Given the description of an element on the screen output the (x, y) to click on. 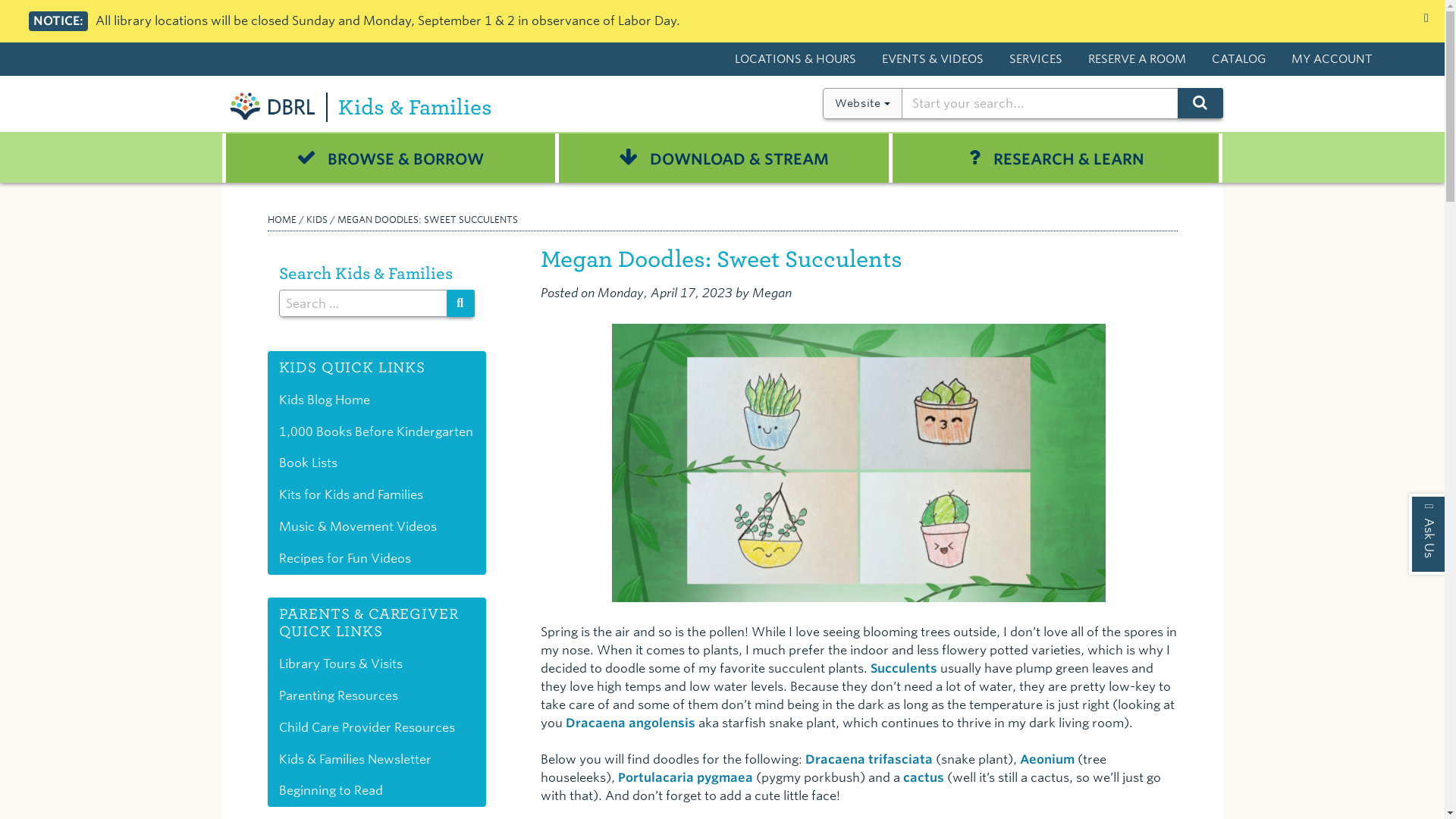
RESERVE A ROOM (1136, 61)
Go to Megan Doodles: Sweet Succulents. (426, 219)
Website (862, 102)
SERVICES (1035, 61)
MY ACCOUNT (1332, 61)
Go to Daniel Boone Regional Library. (280, 219)
CATALOG (1238, 61)
Go to Kids. (316, 219)
